Given the description of an element on the screen output the (x, y) to click on. 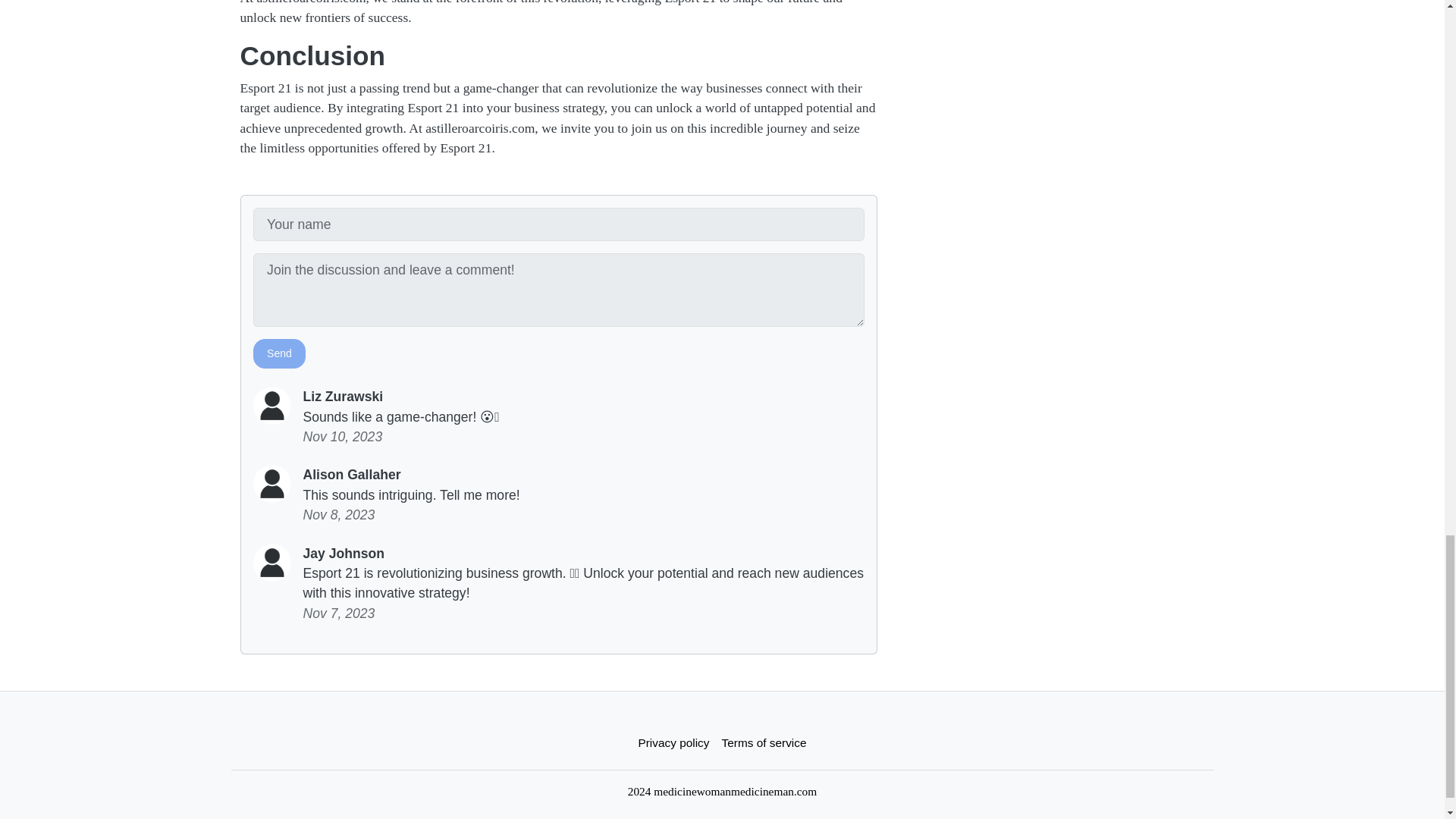
Send (279, 353)
Terms of service (764, 742)
Privacy policy (672, 742)
Send (279, 353)
